Given the description of an element on the screen output the (x, y) to click on. 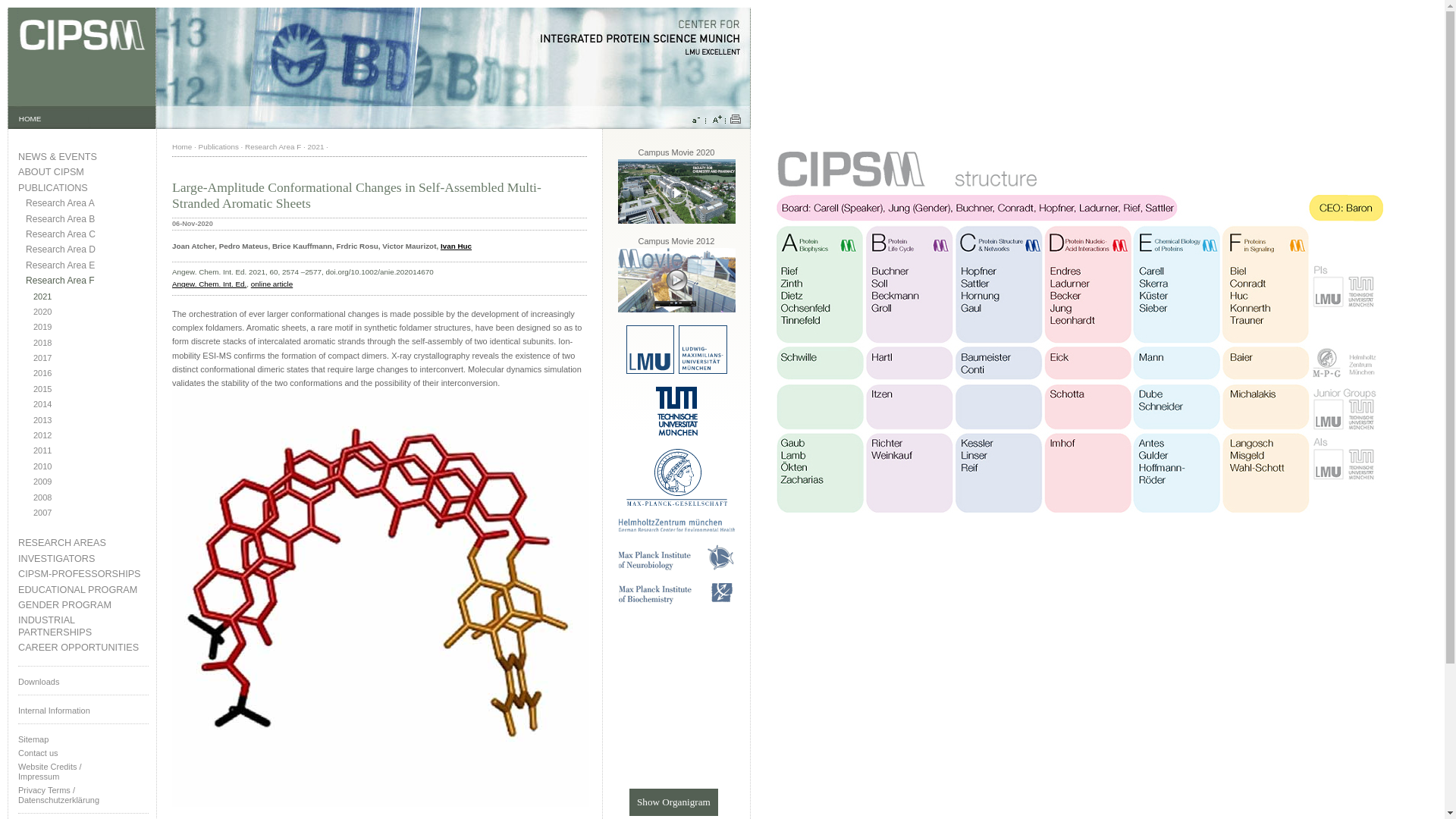
2012 (90, 435)
MPI of Biochemistry (676, 601)
HOME (30, 118)
2009 (90, 481)
2013 (90, 419)
RESEARCH AREAS (82, 542)
Research Area D (87, 249)
Research Area B (87, 219)
Research Area C (87, 234)
INDUSTRIAL PARTNERSHIPS (82, 626)
2008 (90, 497)
MPG (676, 502)
Research Area E (87, 265)
Downloads (82, 681)
2019 (90, 326)
